Given the description of an element on the screen output the (x, y) to click on. 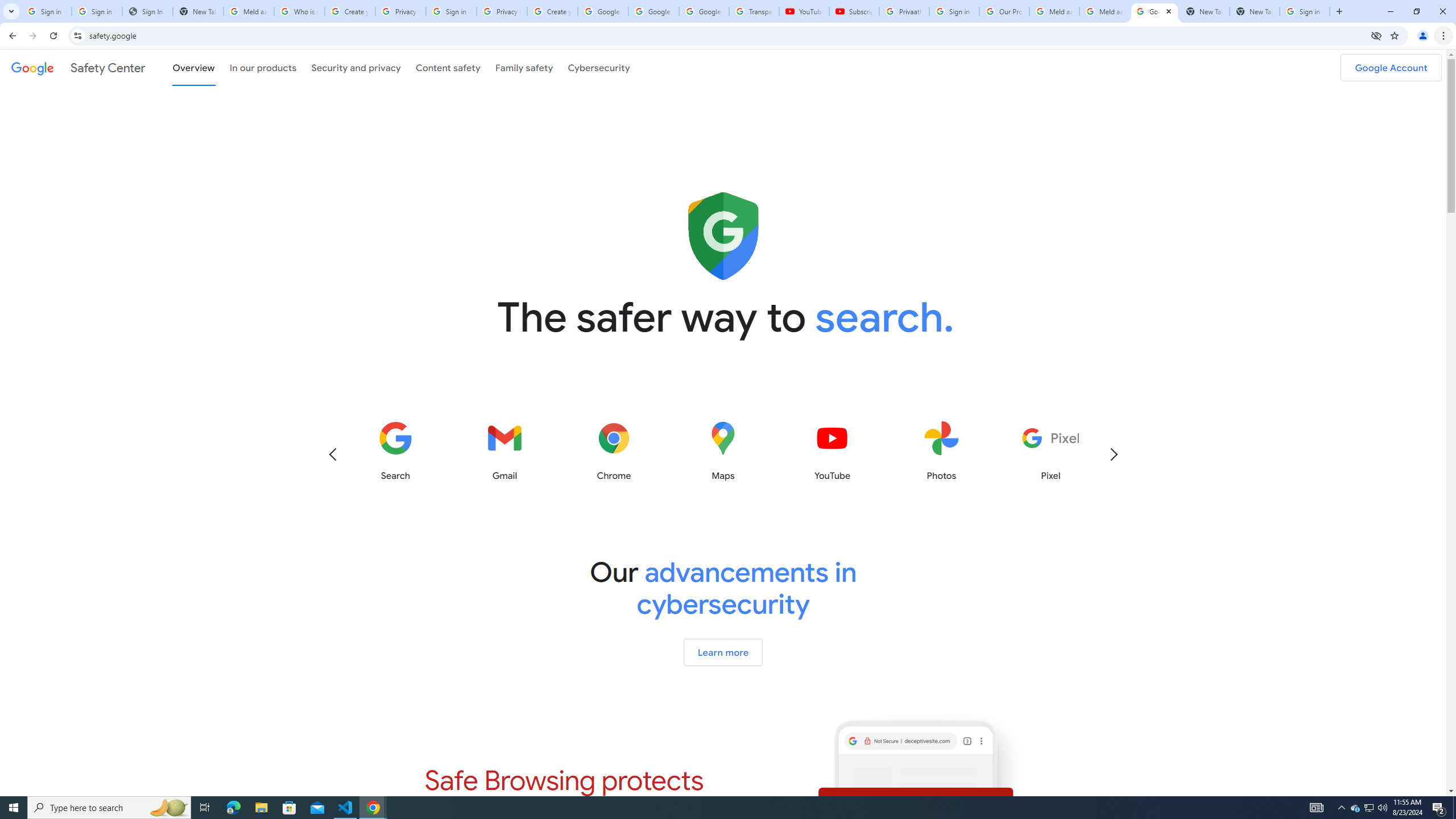
Previous (332, 453)
Create your Google Account (350, 11)
Family safety (523, 67)
Sign in - Google Accounts (1304, 11)
Google Safety Center - Stay Safer Online (1154, 11)
Sign in - Google Accounts (954, 11)
